Given the description of an element on the screen output the (x, y) to click on. 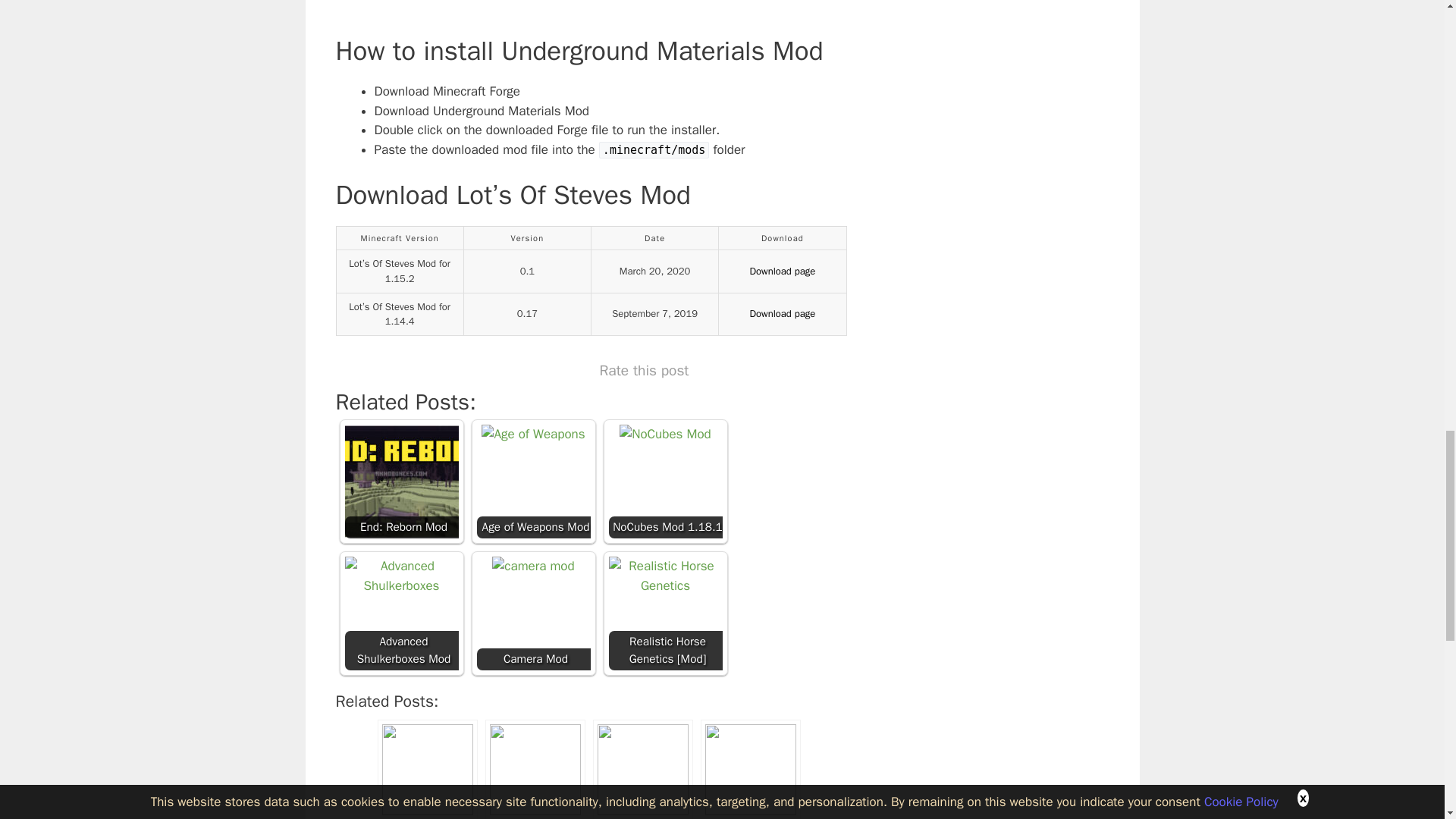
Advanced Shulkerboxes Mod (400, 575)
NoCubes Mod 1.18.1 (665, 434)
Age of Weapons Mod (533, 434)
End: Reborn Mod (400, 481)
Camera Mod (532, 566)
